Given the description of an element on the screen output the (x, y) to click on. 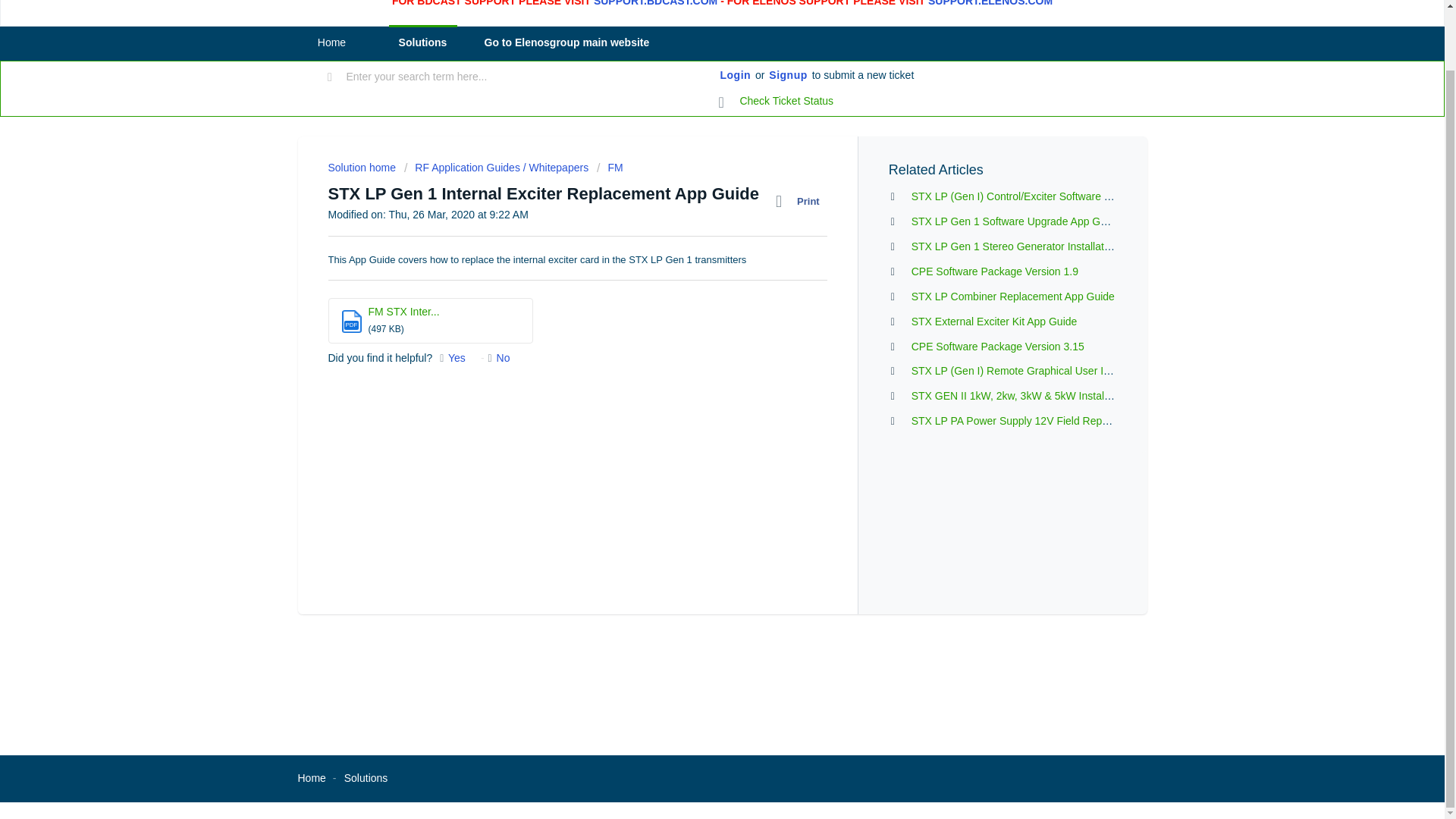
Go to Elenosgroup main website (566, 42)
Solutions (422, 42)
STX LP Gen 1 Software Upgrade App Guide (1016, 221)
SUPPORT.ELENOS.COM (990, 3)
Solution home (362, 167)
STX LP Combiner Replacement App Guide (1013, 296)
Print this Article (801, 201)
STX LP Gen 1 Stereo Generator Installation App Guide (1040, 246)
CPE Software Package Version 1.9 (994, 271)
FM (609, 167)
